Given the description of an element on the screen output the (x, y) to click on. 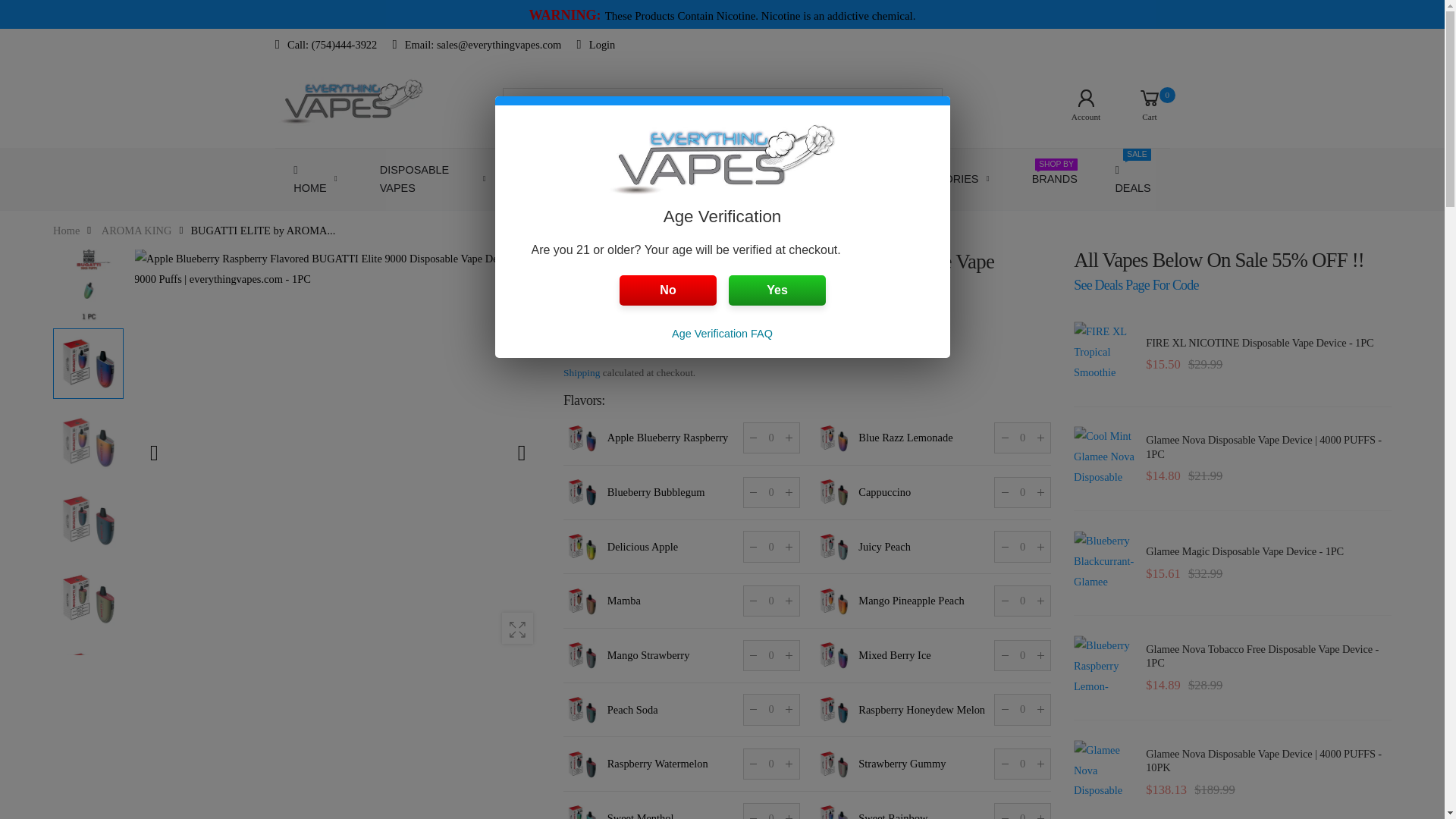
AROMA KING (136, 230)
0 (770, 438)
0 (770, 491)
0 (770, 811)
0 (770, 546)
0 (770, 709)
0 (770, 763)
0 (1022, 811)
0 (1022, 546)
0 (1022, 763)
0 (1022, 600)
0 (770, 600)
0 (1022, 654)
Home (66, 230)
